Given the description of an element on the screen output the (x, y) to click on. 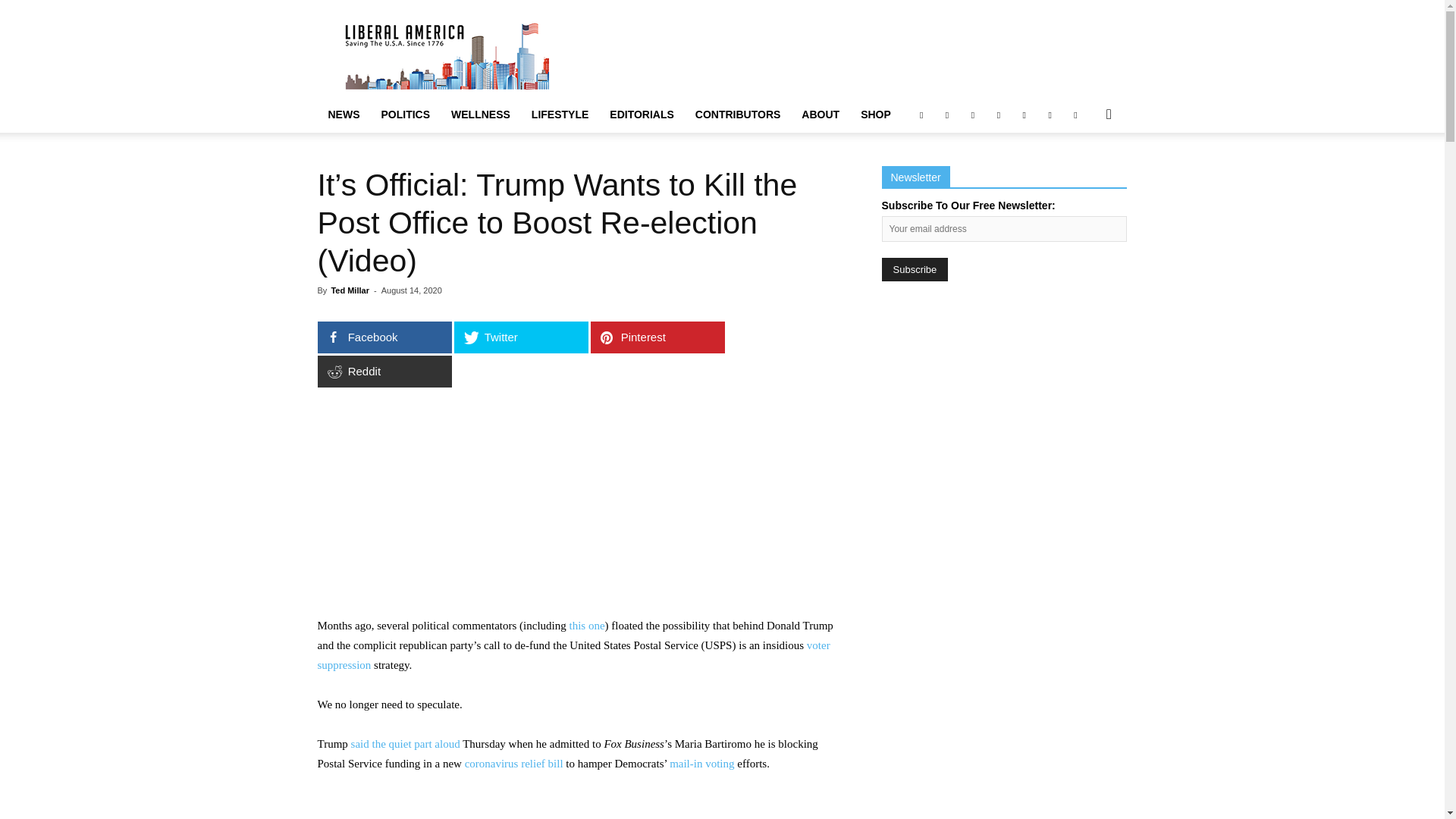
WELLNESS (481, 114)
CONTRIBUTORS (738, 114)
Advertisement (579, 806)
Advertisement (579, 503)
LIFESTYLE (559, 114)
Advertisement (850, 55)
NEWS (343, 114)
Subscribe (913, 269)
POLITICS (405, 114)
EDITORIALS (641, 114)
